Given the description of an element on the screen output the (x, y) to click on. 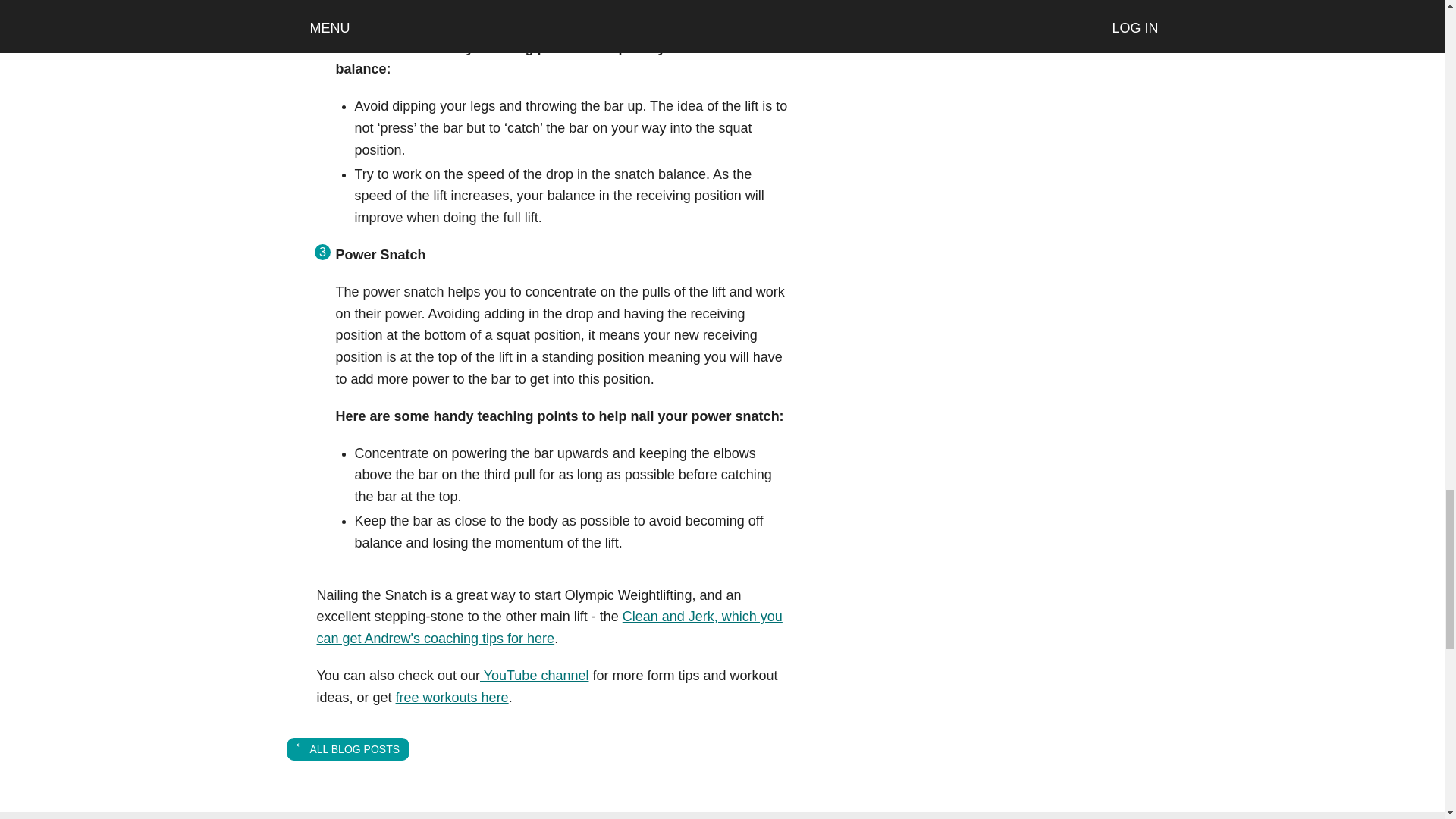
How Start Olympic Weightlifting Clean Jerk (550, 627)
